Given the description of an element on the screen output the (x, y) to click on. 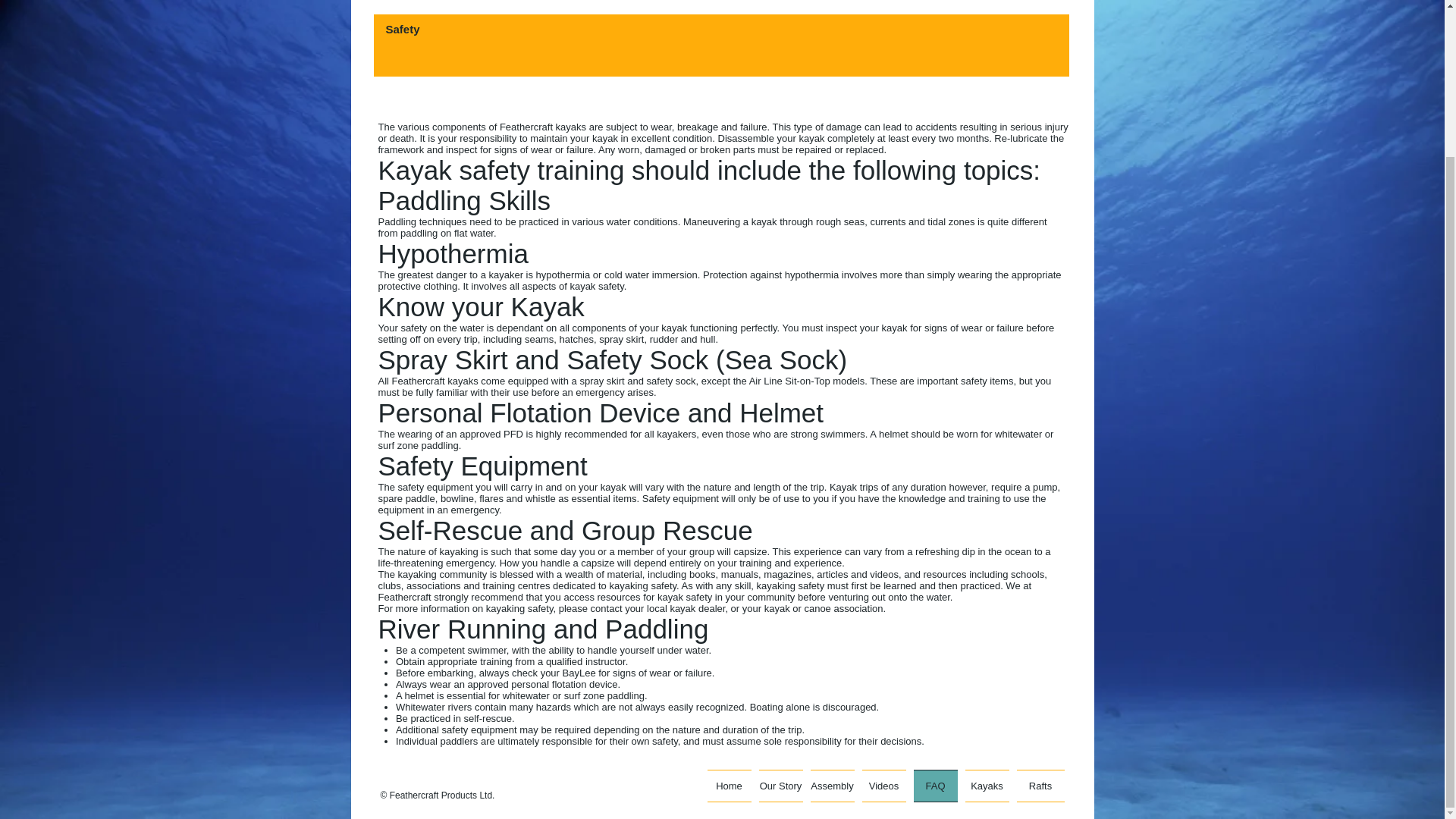
Assembly (832, 785)
Home (729, 785)
Videos (884, 785)
Kayaks (986, 785)
FAQ (935, 785)
Our Story (780, 785)
